Given the description of an element on the screen output the (x, y) to click on. 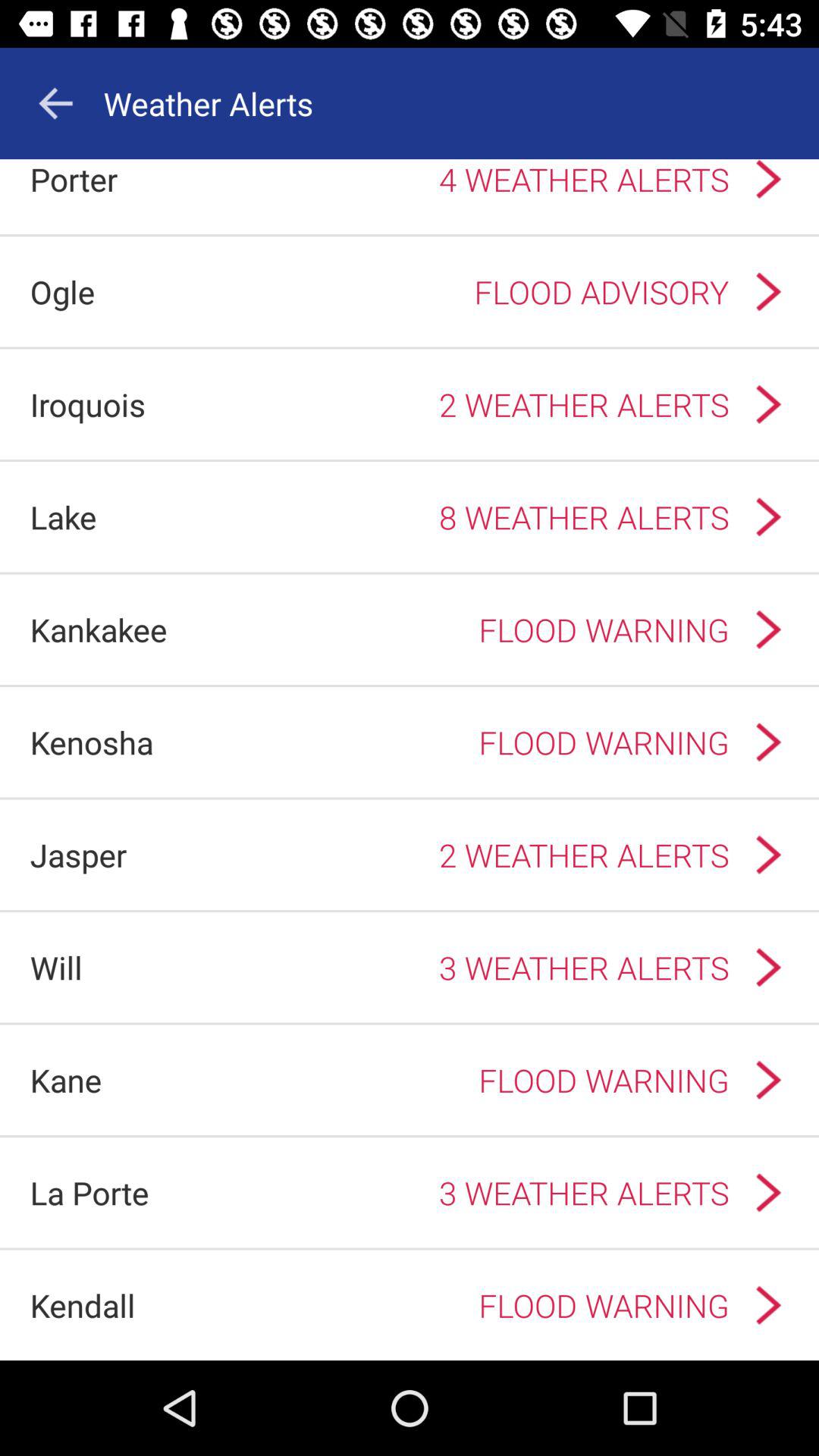
click the lake app (63, 516)
